Given the description of an element on the screen output the (x, y) to click on. 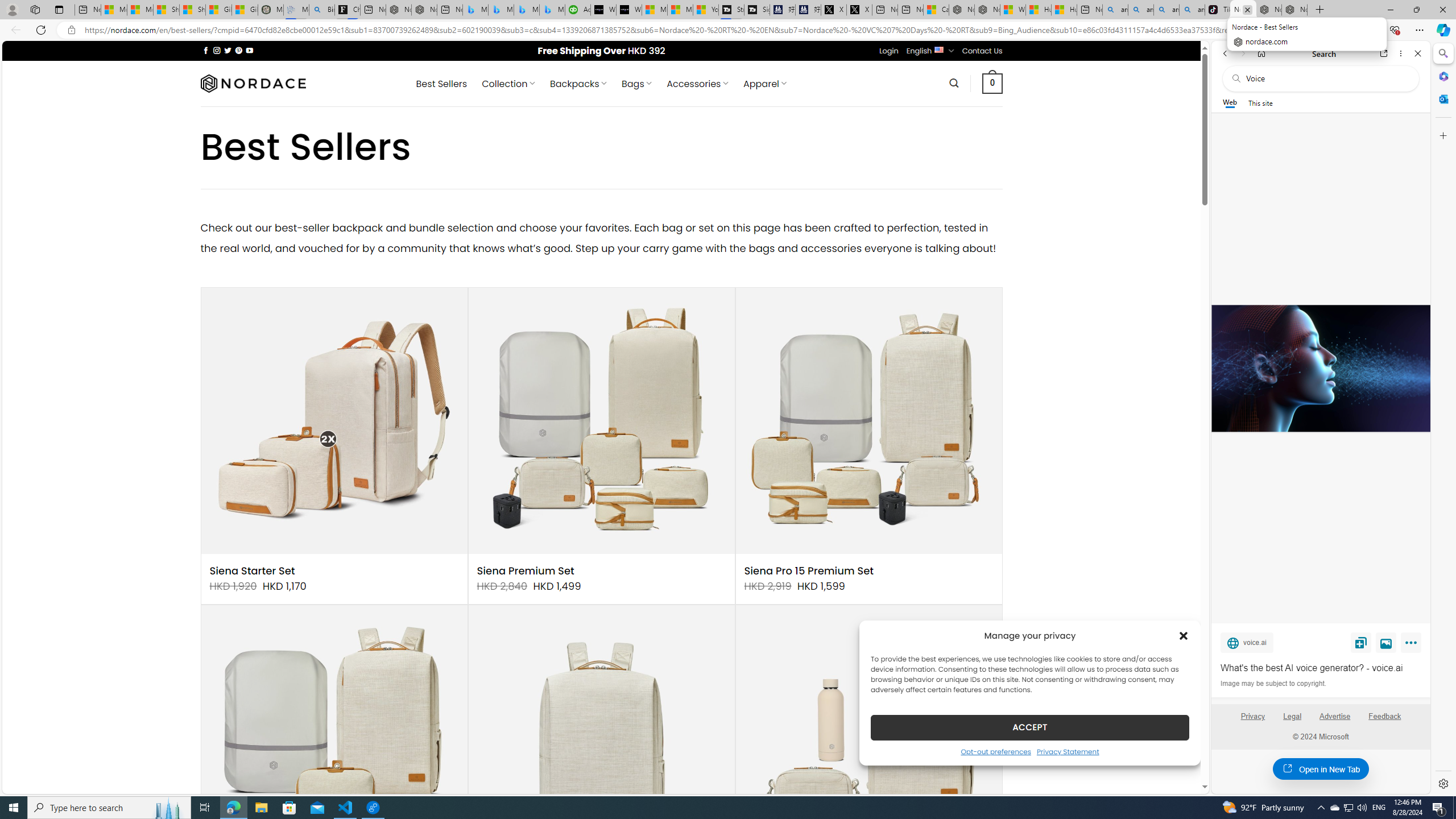
Outlook (1442, 98)
Legal (1292, 720)
Privacy (1252, 715)
More options (1401, 53)
Open link in new tab (1383, 53)
